Given the description of an element on the screen output the (x, y) to click on. 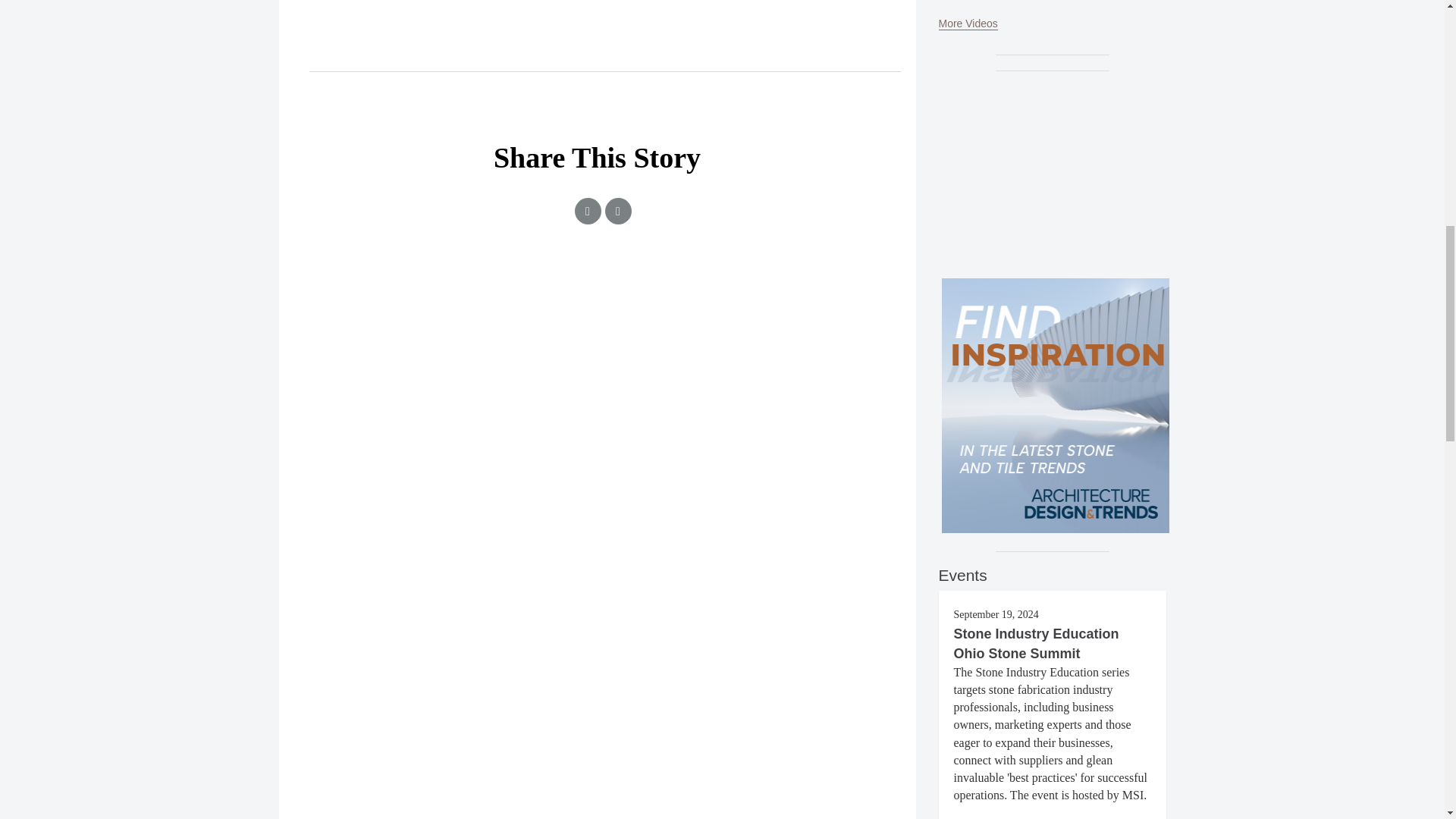
Stone Industry Education Ohio Stone Summit (1036, 643)
